Given the description of an element on the screen output the (x, y) to click on. 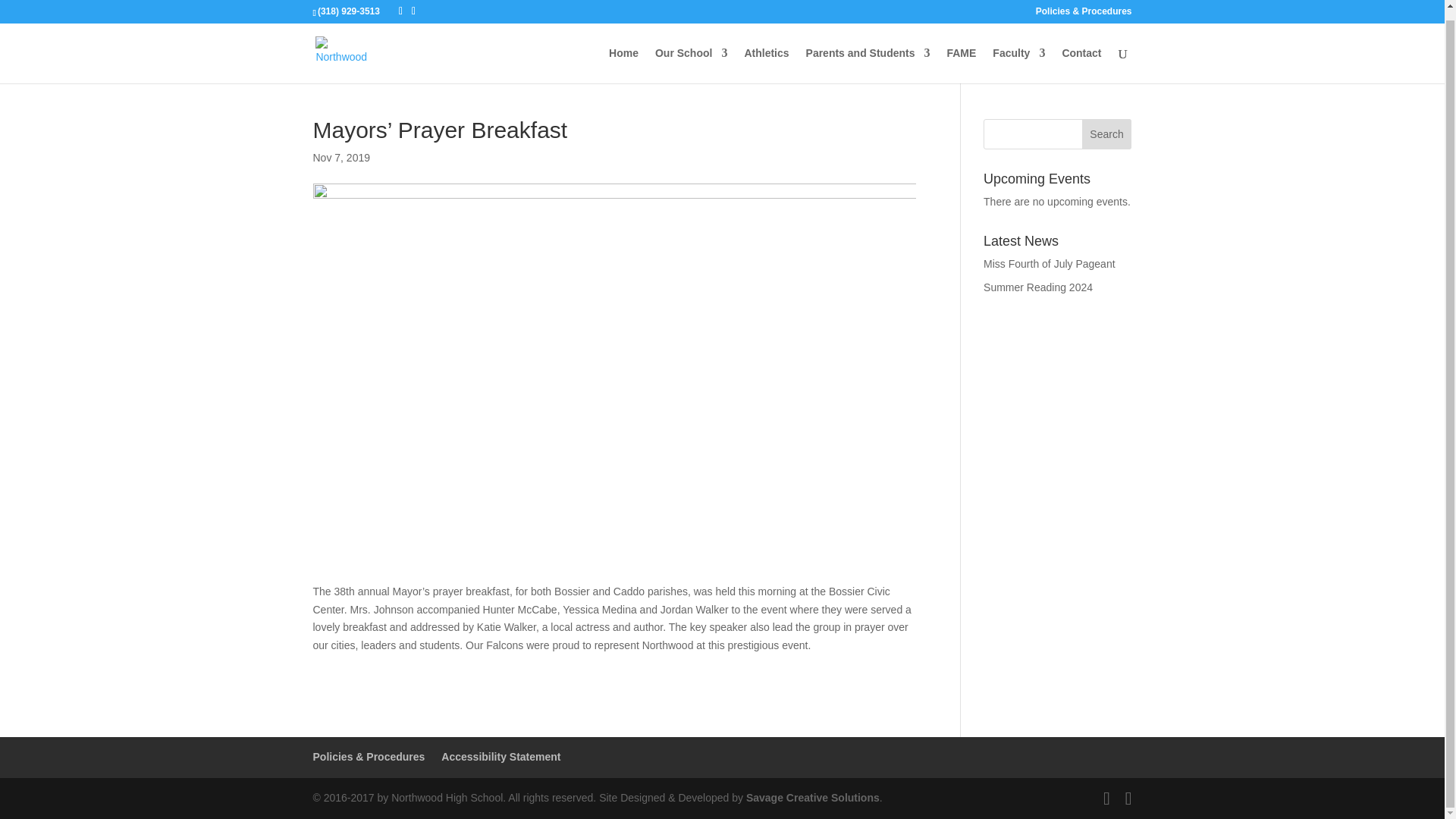
Athletics (766, 56)
Faculty (1018, 56)
Summer Reading 2024 (1038, 287)
FAME (960, 56)
Home (623, 56)
Our School (690, 56)
Accessibility Statement (500, 756)
Savage Creative Solutions (812, 797)
Contact (1080, 56)
Search (1106, 133)
Miss Fourth of July Pageant (1049, 263)
Parents and Students (868, 56)
Search (1106, 133)
